Given the description of an element on the screen output the (x, y) to click on. 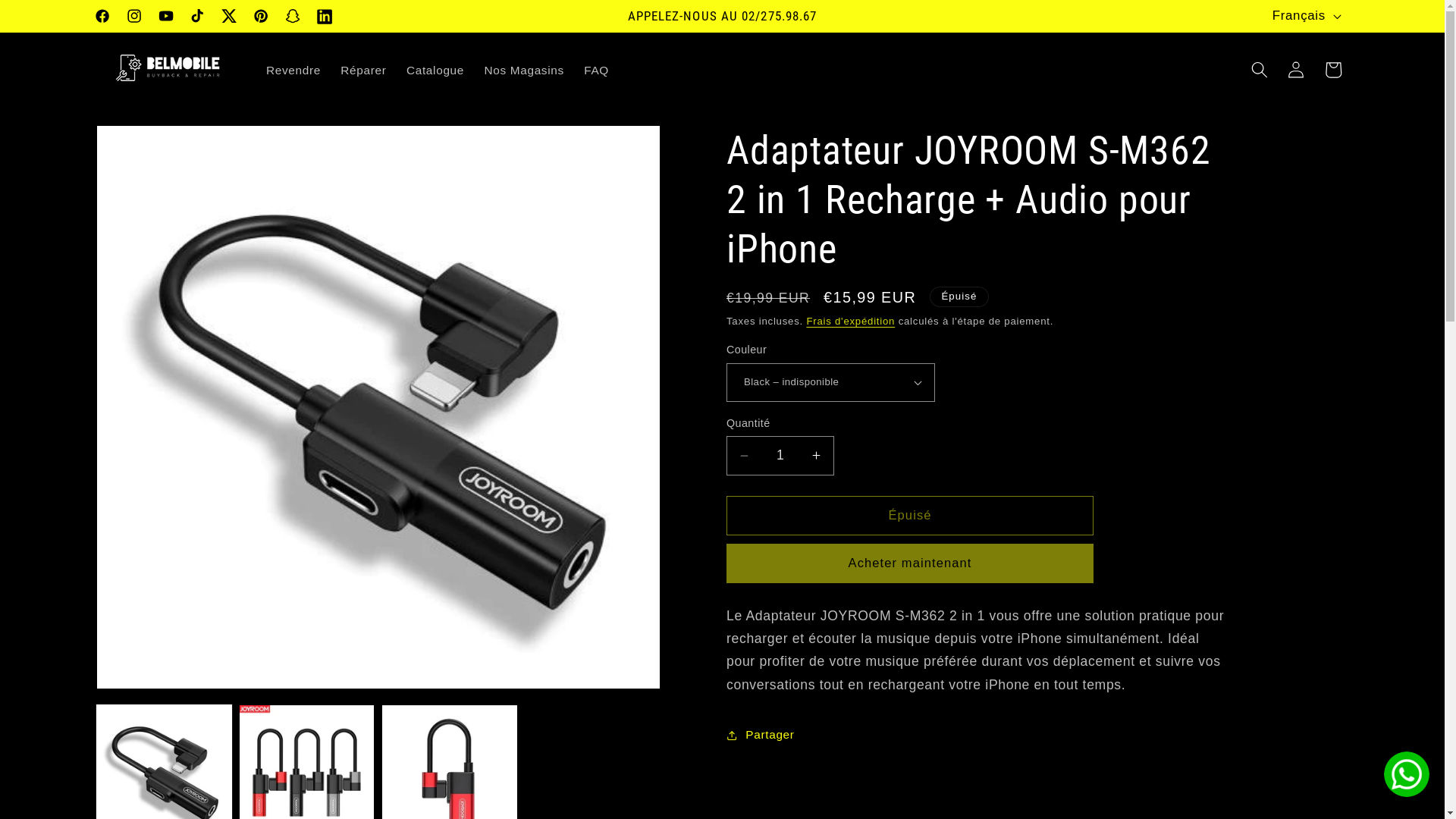
Panier Element type: text (1332, 69)
TikTok Element type: text (197, 16)
Snapchat Element type: text (292, 16)
Acheter maintenant Element type: text (909, 563)
Vimeo Element type: text (324, 16)
FAQ Element type: text (596, 69)
Facebook Element type: text (102, 16)
Twitter Element type: text (228, 16)
Revendre Element type: text (293, 69)
Nos Magasins Element type: text (523, 69)
Passer aux informations produits Element type: text (146, 144)
Catalogue Element type: text (434, 69)
YouTube Element type: text (166, 16)
Pinterest Element type: text (260, 16)
Instagram Element type: text (134, 16)
Connexion Element type: text (1295, 69)
